Given the description of an element on the screen output the (x, y) to click on. 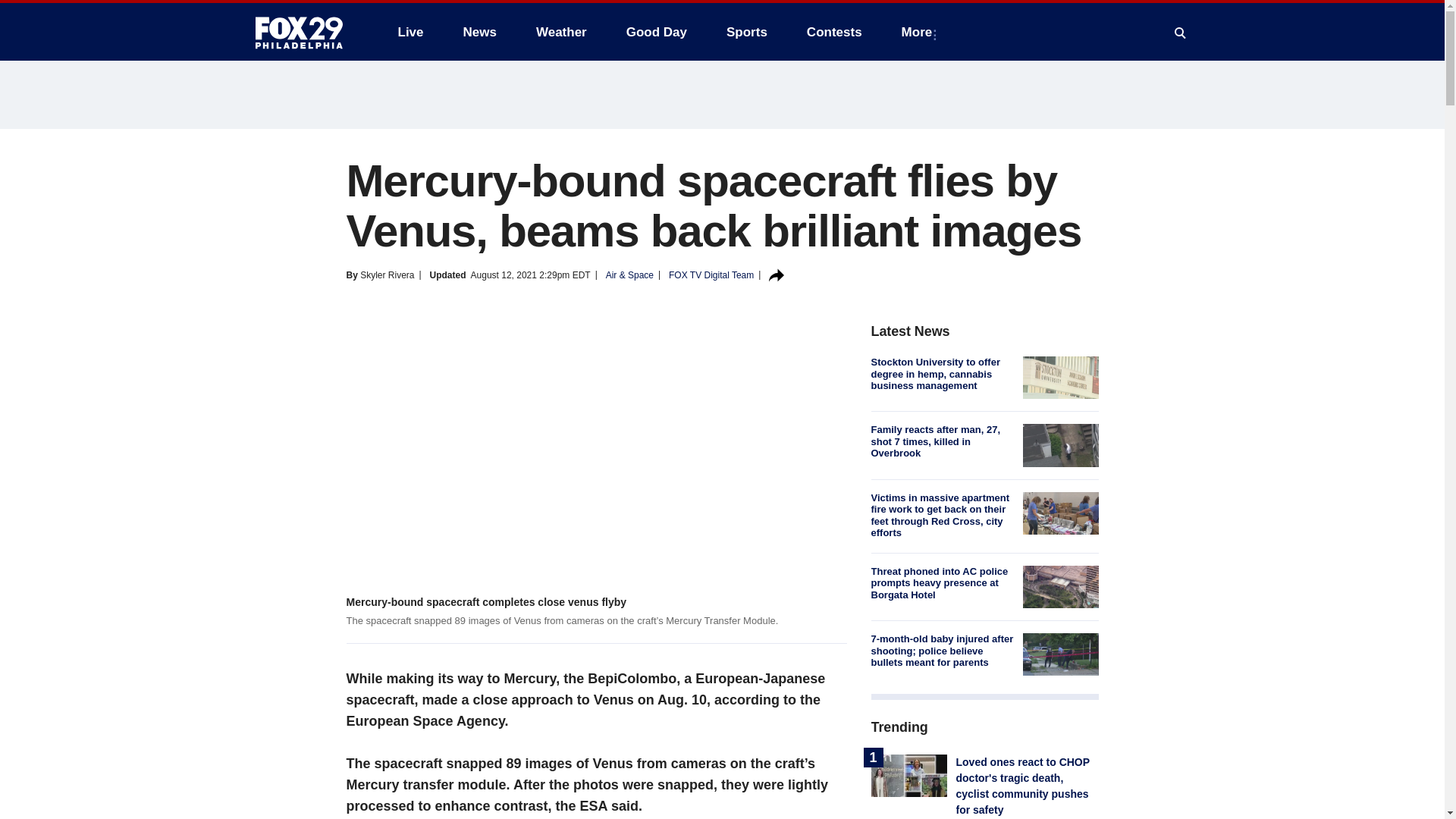
More (919, 32)
Live (410, 32)
Contests (834, 32)
Weather (561, 32)
News (479, 32)
Sports (746, 32)
Good Day (656, 32)
